Given the description of an element on the screen output the (x, y) to click on. 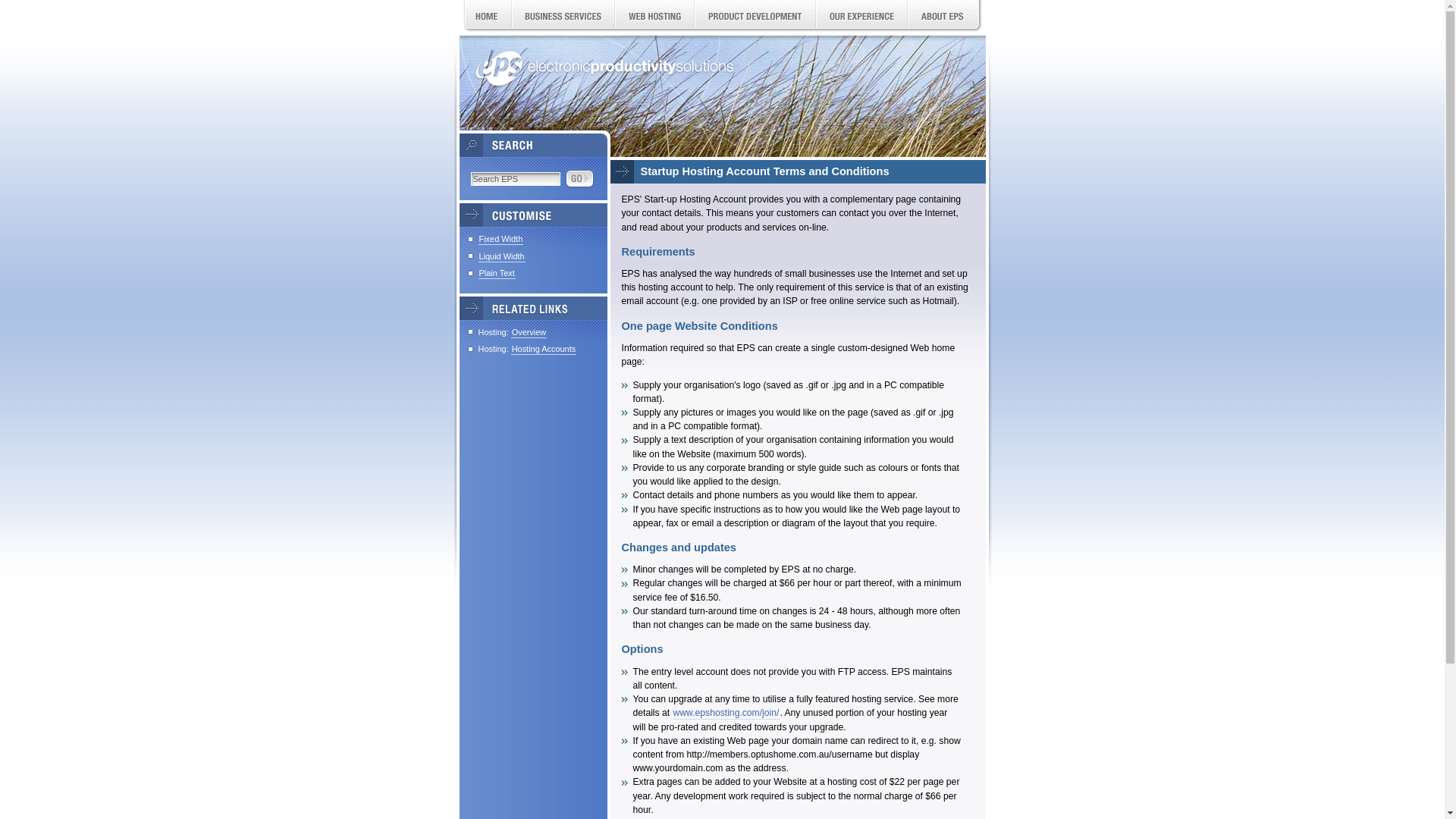
Business Services Element type: text (562, 17)
Our Experience Element type: text (860, 17)
Liquid Width Element type: text (500, 256)
Submit Your Search Element type: hover (579, 178)
Overview Element type: text (529, 332)
Home Element type: text (486, 17)
Hosting Accounts Element type: text (544, 348)
Electronic Productivity Solutions Element type: text (604, 68)
Web Hosting Element type: text (653, 17)
Product Development Element type: text (754, 17)
About EPS Element type: text (941, 17)
Fixed Width Element type: text (500, 238)
www.epshosting.com/join/ Element type: text (726, 712)
Plain Text Element type: text (495, 273)
